Given the description of an element on the screen output the (x, y) to click on. 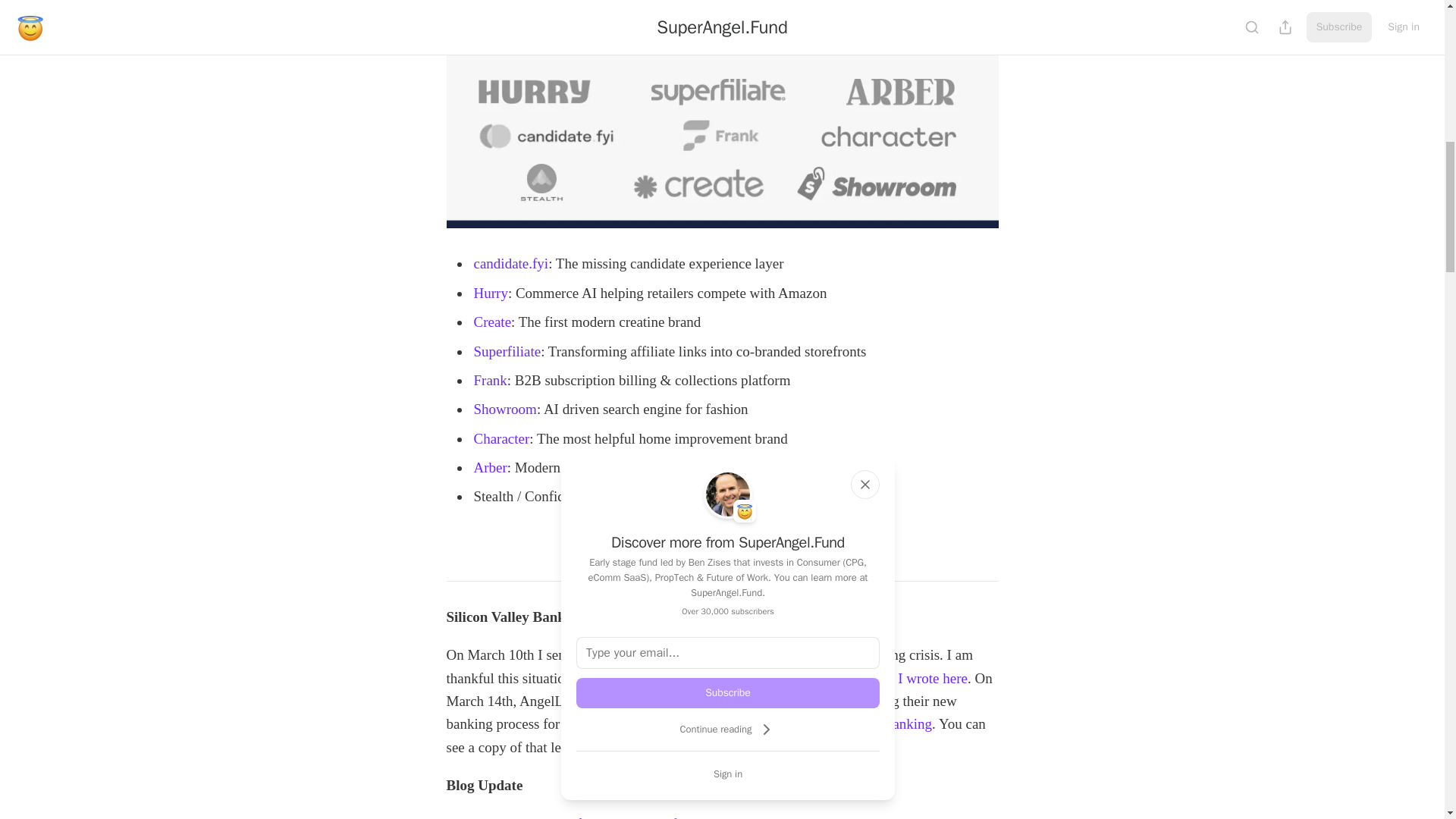
Networked Banking (874, 723)
view a copy of the letter I wrote here (861, 678)
Sign in (727, 773)
Superfiliate (506, 350)
Arber (489, 467)
Showroom (504, 408)
here (595, 747)
Character (501, 438)
Create (492, 321)
